Given the description of an element on the screen output the (x, y) to click on. 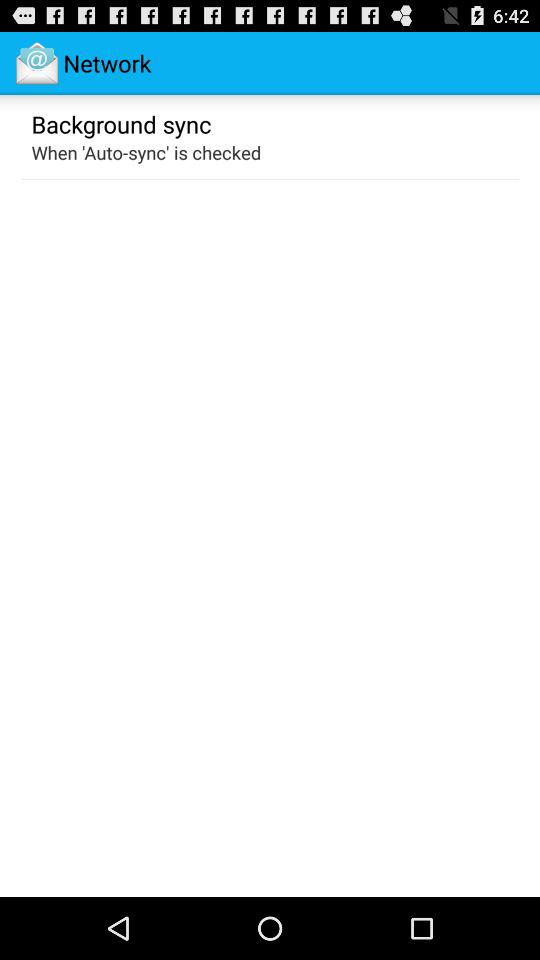
click when auto sync icon (146, 151)
